Given the description of an element on the screen output the (x, y) to click on. 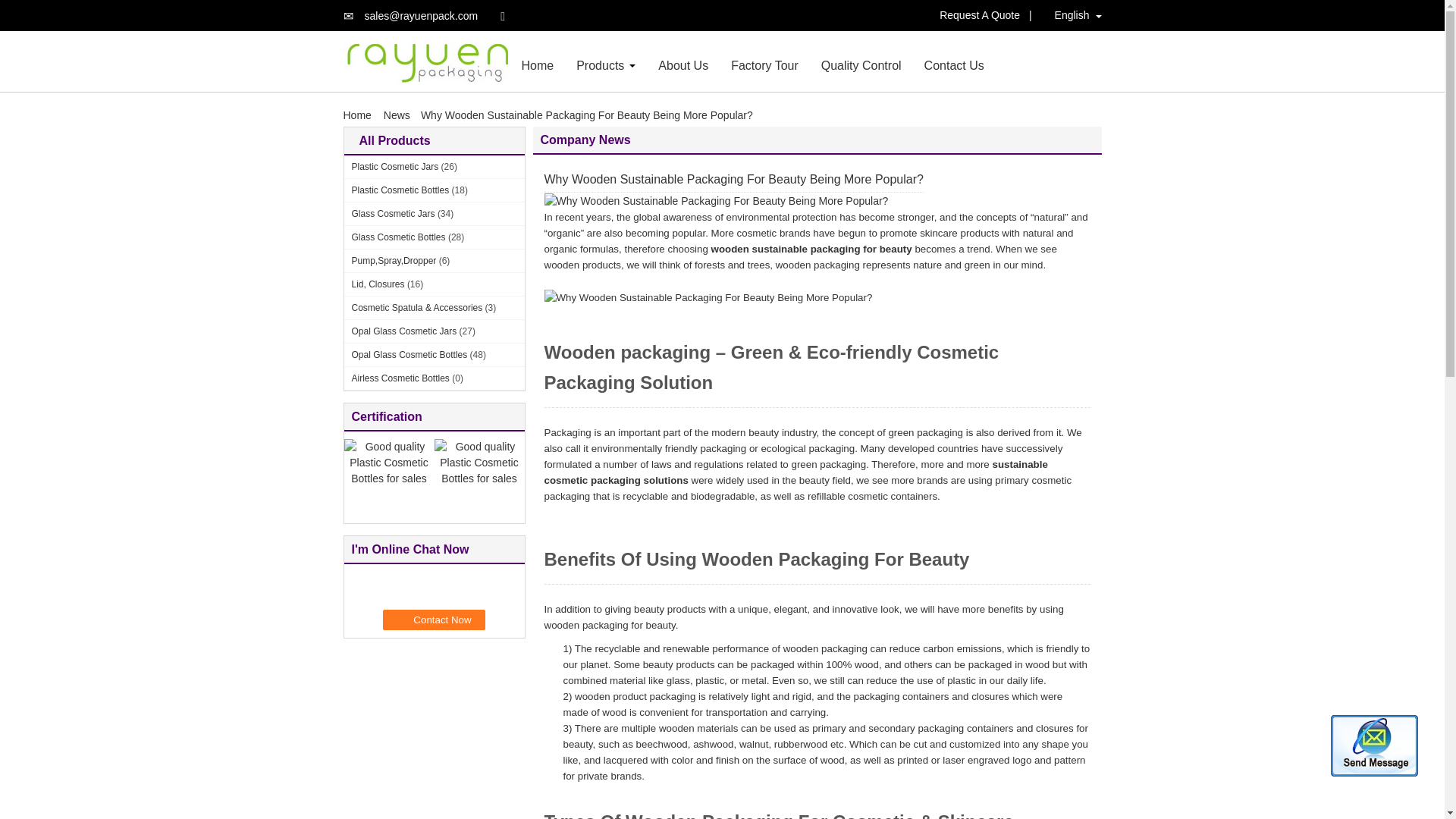
Home (359, 115)
Request A Quote (982, 15)
Quote (982, 15)
About Us (682, 65)
News (396, 115)
Plastic Cosmetic Jars (395, 166)
Contact Us (954, 65)
Home (537, 65)
English (1064, 15)
Factory Tour (763, 65)
Quality Control (861, 65)
Contact Now (433, 619)
China Plastic Cosmetic Jars manufacturer (425, 60)
Products (600, 65)
Plastic Cosmetic Bottles (400, 190)
